Given the description of an element on the screen output the (x, y) to click on. 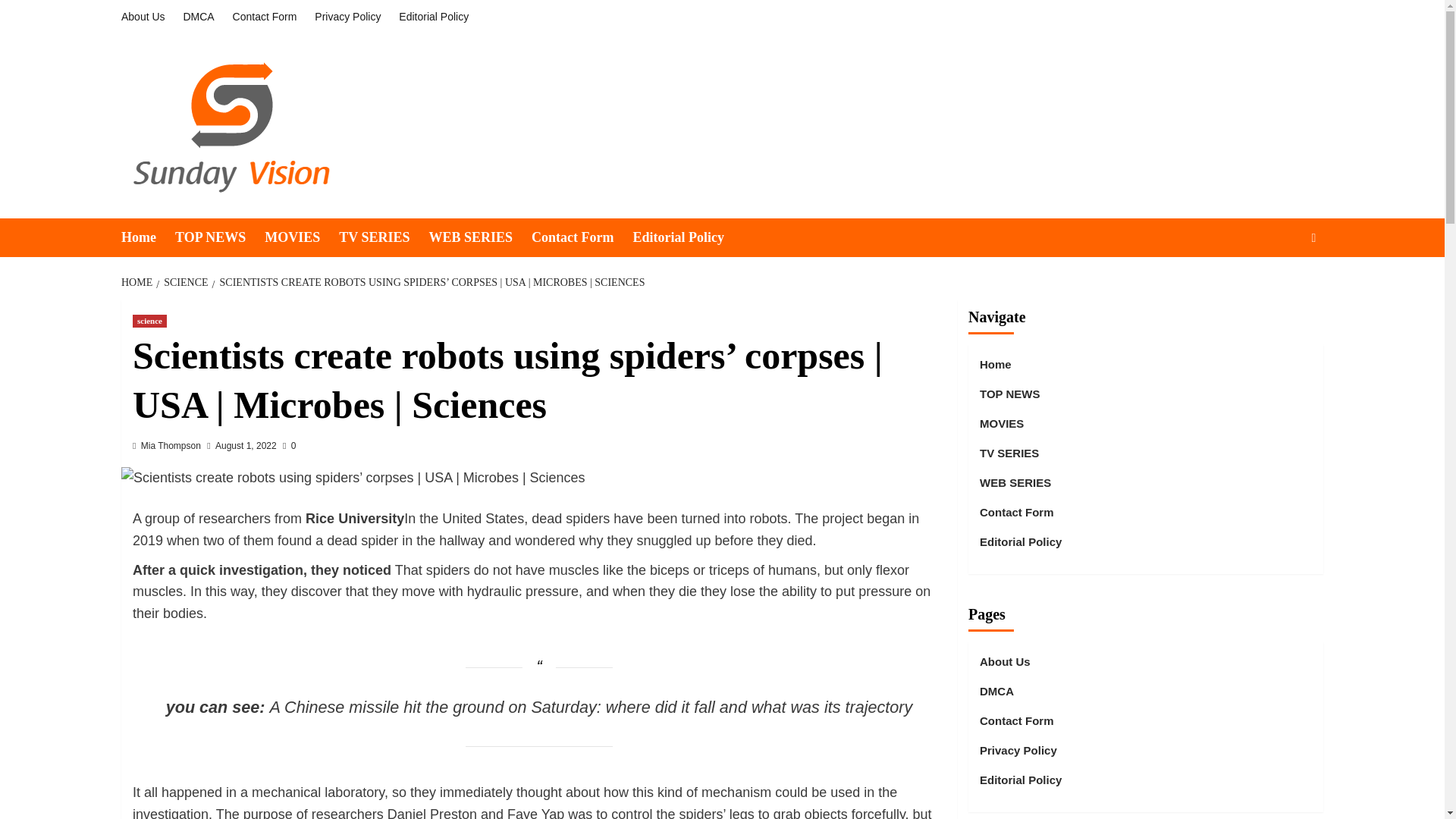
Search (1278, 283)
Editorial Policy (686, 237)
August 1, 2022 (245, 445)
Contact Form (581, 237)
Home (147, 237)
TV SERIES (383, 237)
HOME (137, 282)
science (149, 320)
MOVIES (301, 237)
WEB SERIES (479, 237)
